Given the description of an element on the screen output the (x, y) to click on. 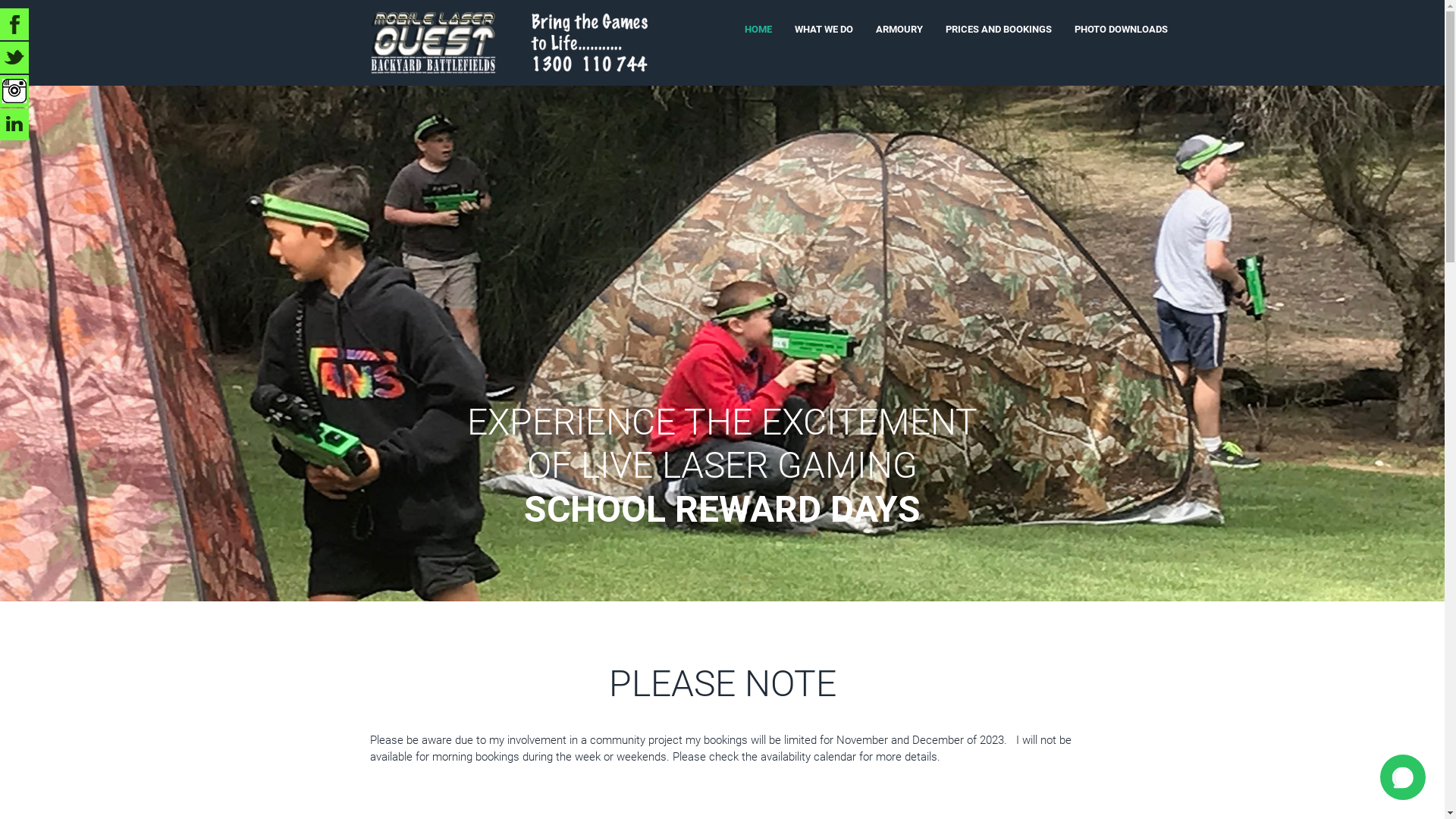
HOME Element type: text (758, 29)
ARMOURY Element type: text (899, 29)
WHAT WE DO Element type: text (823, 29)
PHOTO DOWNLOADS Element type: text (1121, 29)
PRICES AND BOOKINGS Element type: text (998, 29)
